Given the description of an element on the screen output the (x, y) to click on. 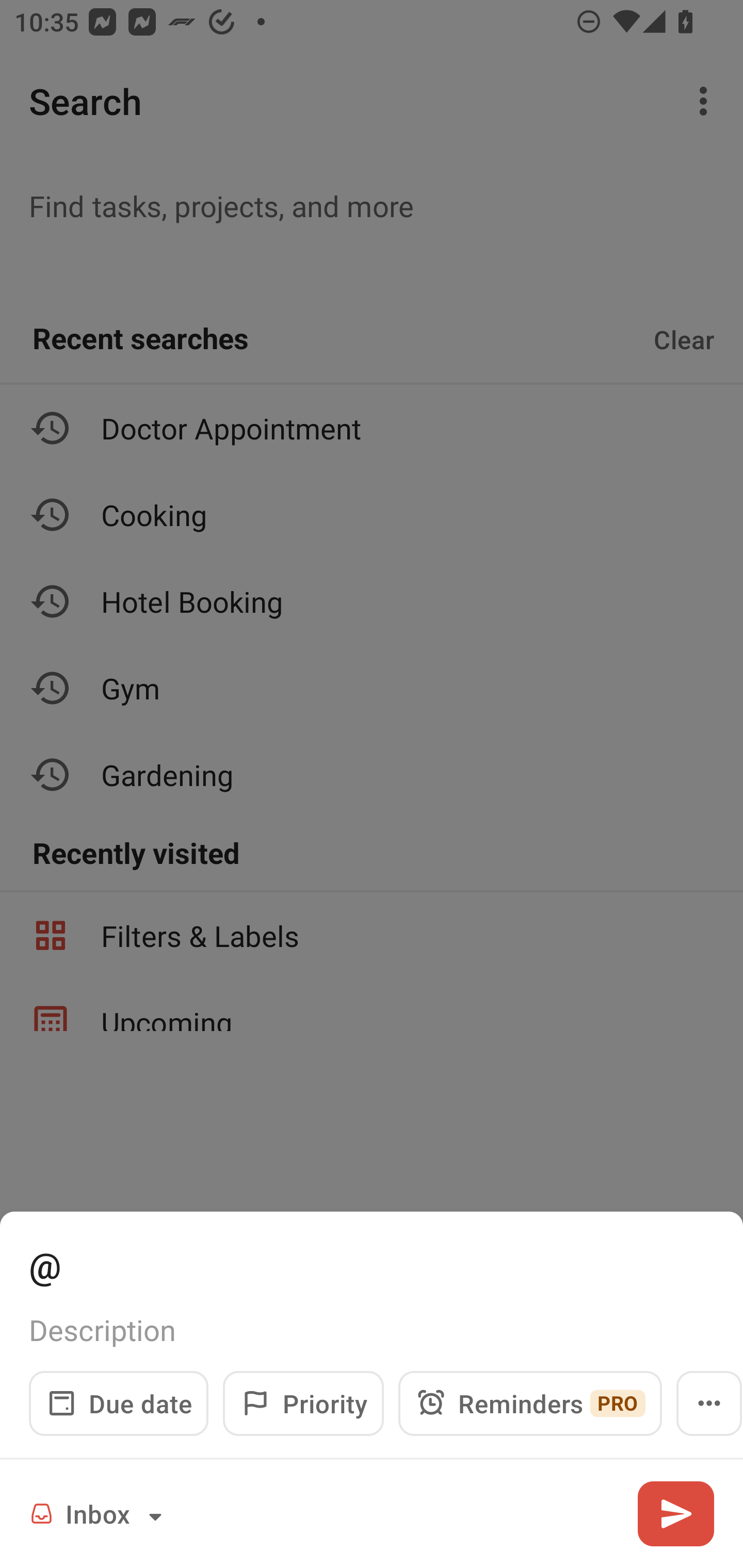
@ (371, 1264)
Description (371, 1330)
Due date Date (118, 1403)
Priority (303, 1403)
Reminders PRO Reminders (530, 1403)
Open menu (709, 1403)
Inbox Project (99, 1513)
Add (675, 1513)
